Given the description of an element on the screen output the (x, y) to click on. 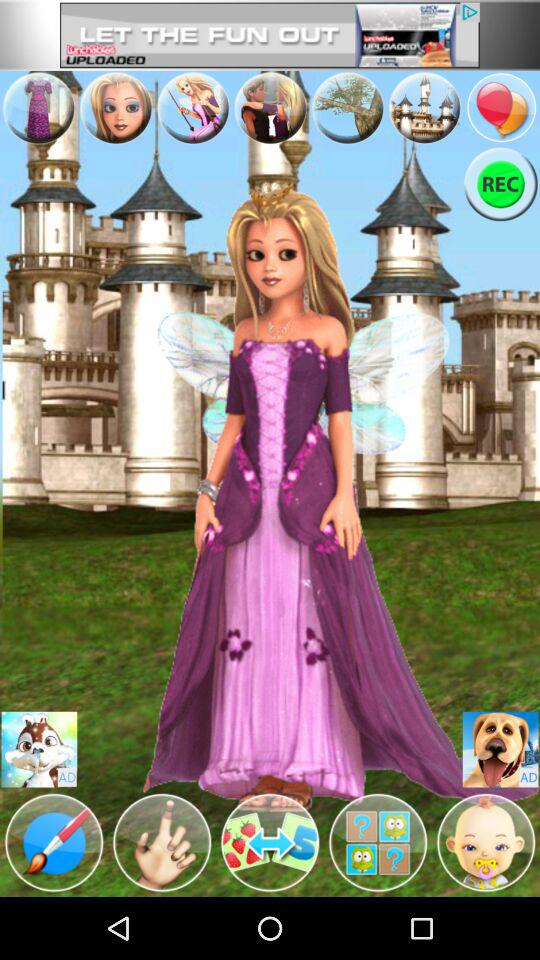
avertisement (270, 107)
